Given the description of an element on the screen output the (x, y) to click on. 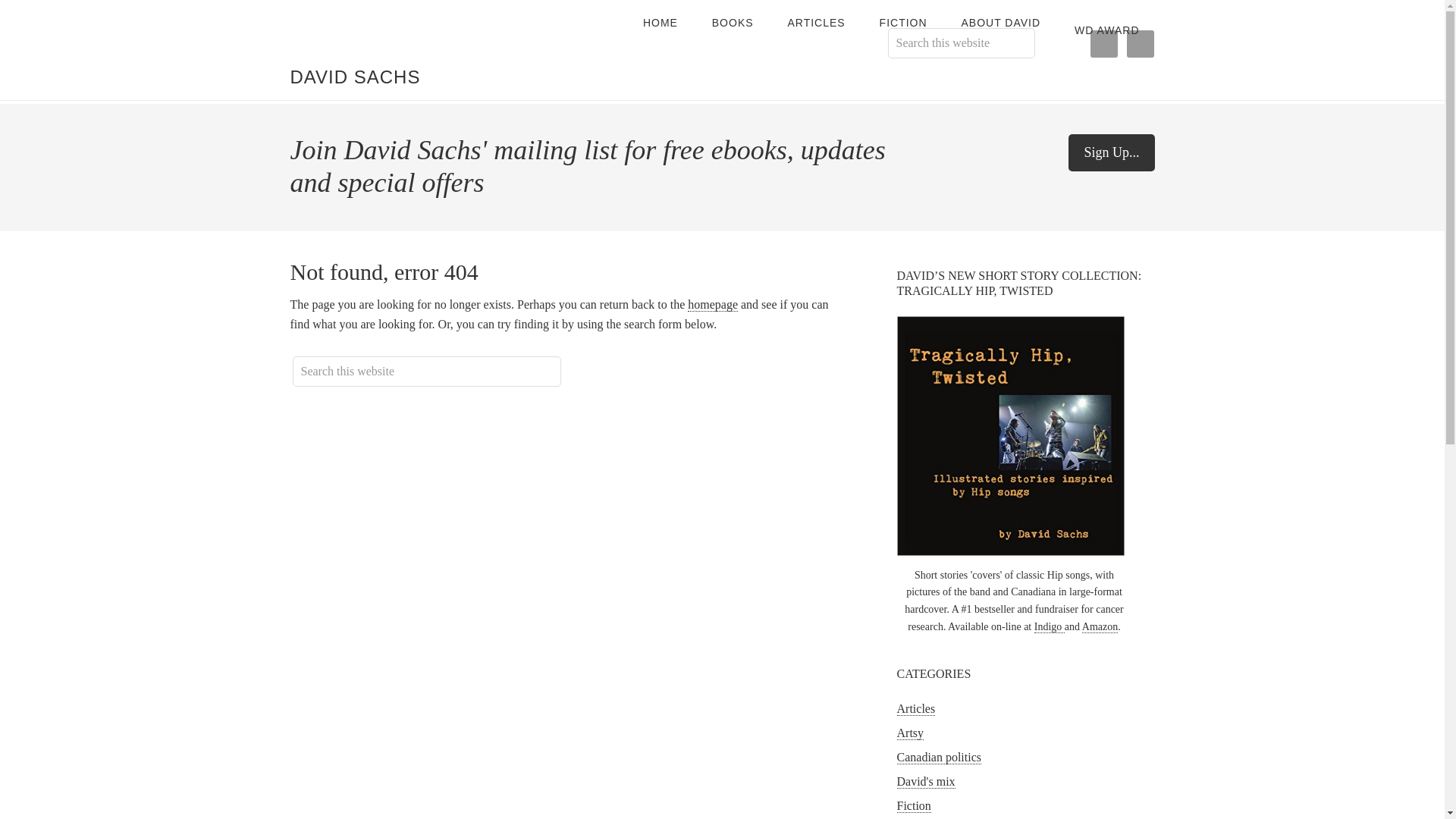
Artsy (909, 733)
BOOKS (732, 22)
Tragically Hip, Twisted (1010, 436)
Fiction (913, 806)
Canadian politics (938, 757)
Amazon (1099, 626)
Articles (915, 708)
